Given the description of an element on the screen output the (x, y) to click on. 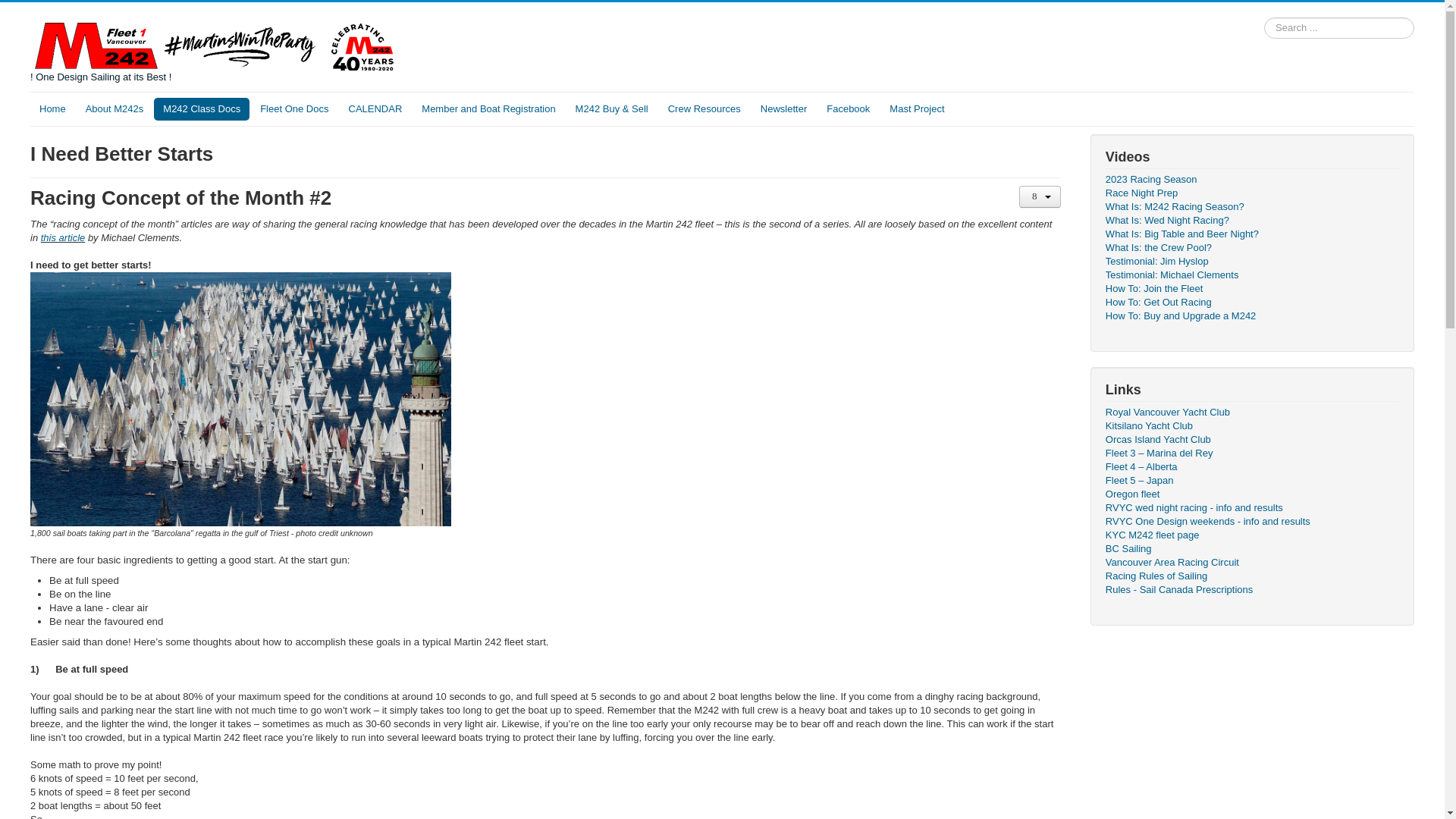
About M242s (114, 108)
Home (52, 108)
M242 Class Docs (201, 108)
! One Design Sailing at its Best ! (217, 50)
